Given the description of an element on the screen output the (x, y) to click on. 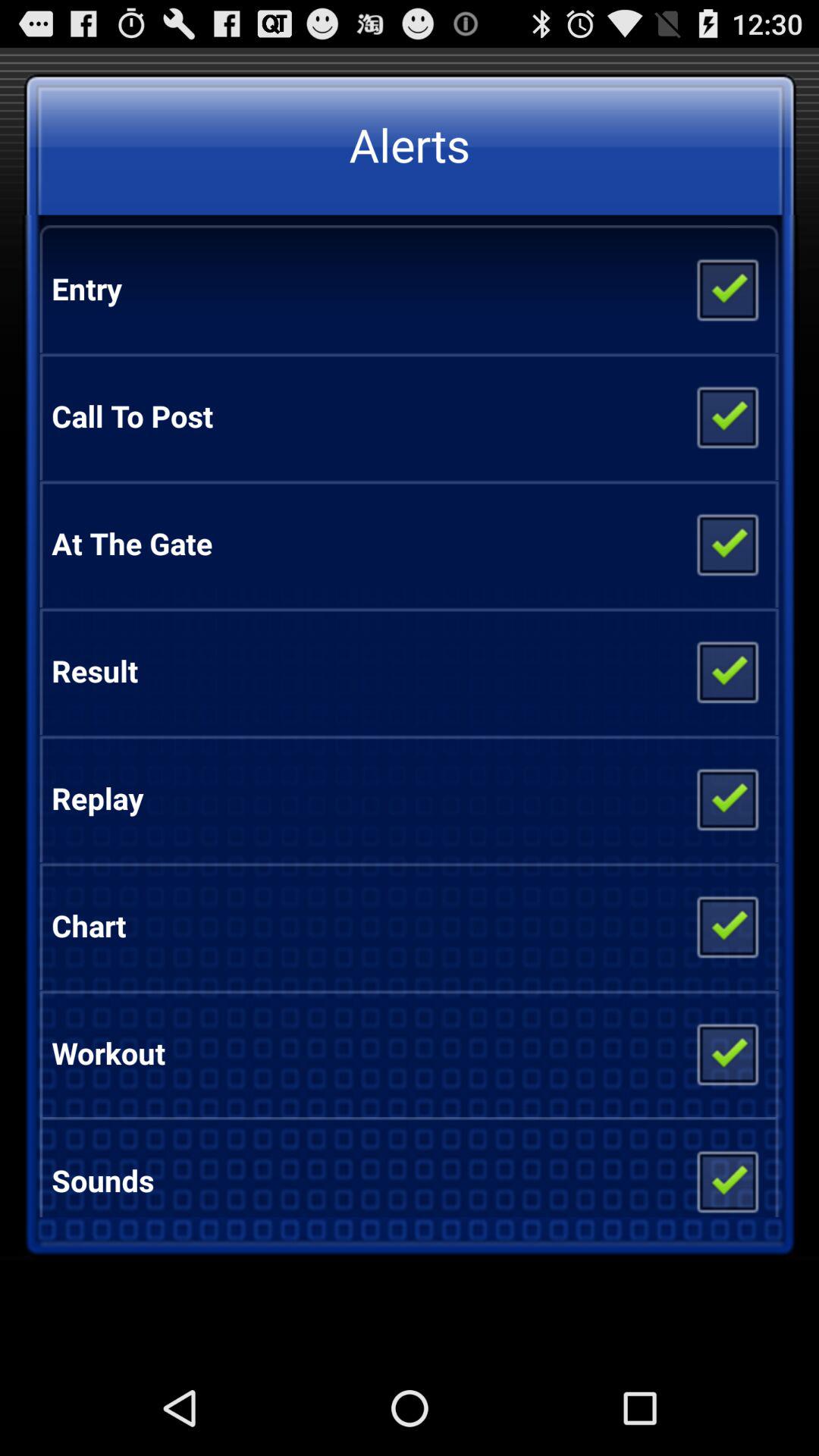
checked box (726, 416)
